Given the description of an element on the screen output the (x, y) to click on. 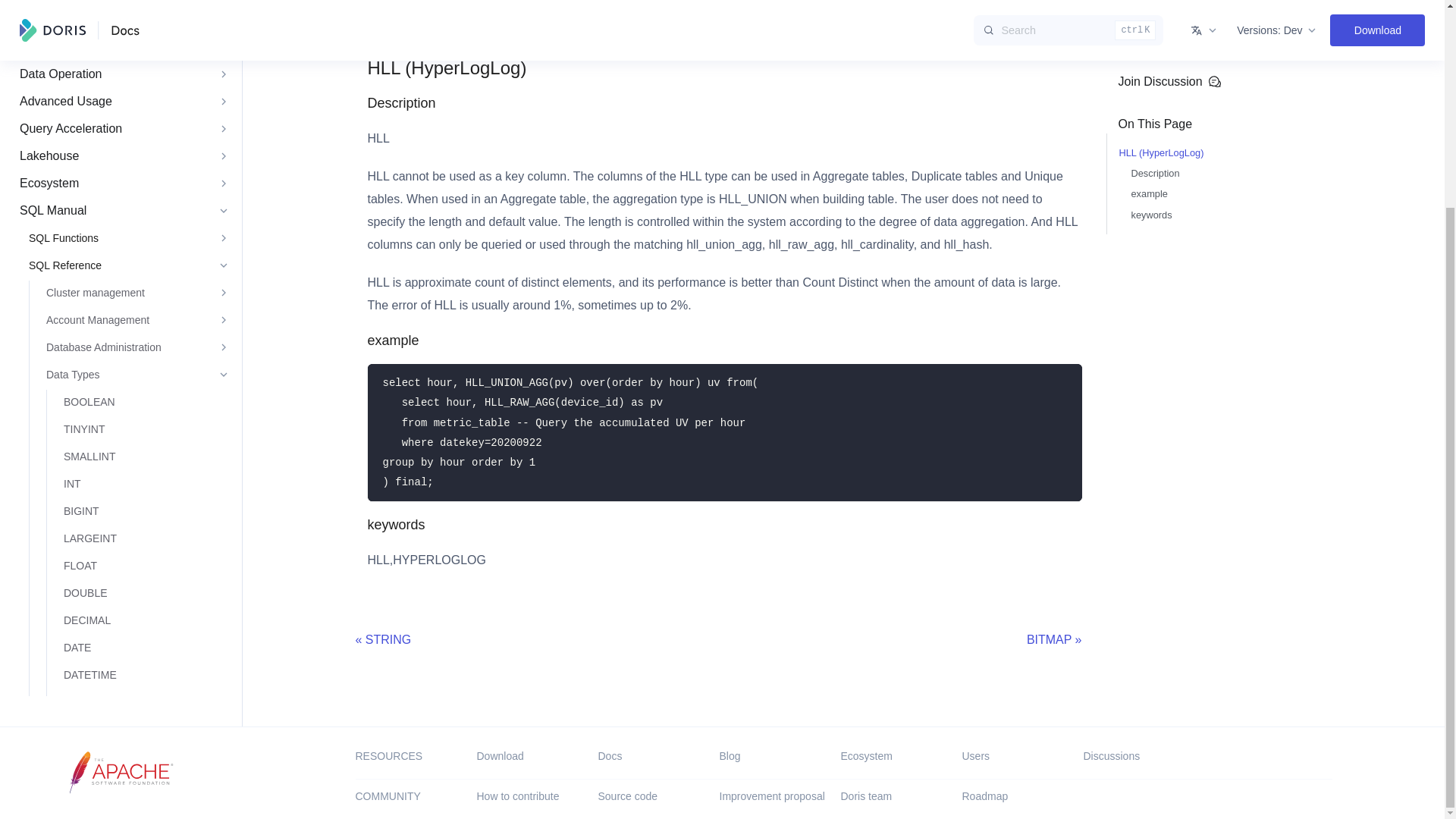
Ecosystem (121, 38)
SQL Functions (126, 93)
SQL Reference (126, 120)
Lakehouse (121, 11)
Account Management (135, 174)
Cluster management (135, 147)
Database Administration (135, 202)
SQL Manual (121, 65)
